Given the description of an element on the screen output the (x, y) to click on. 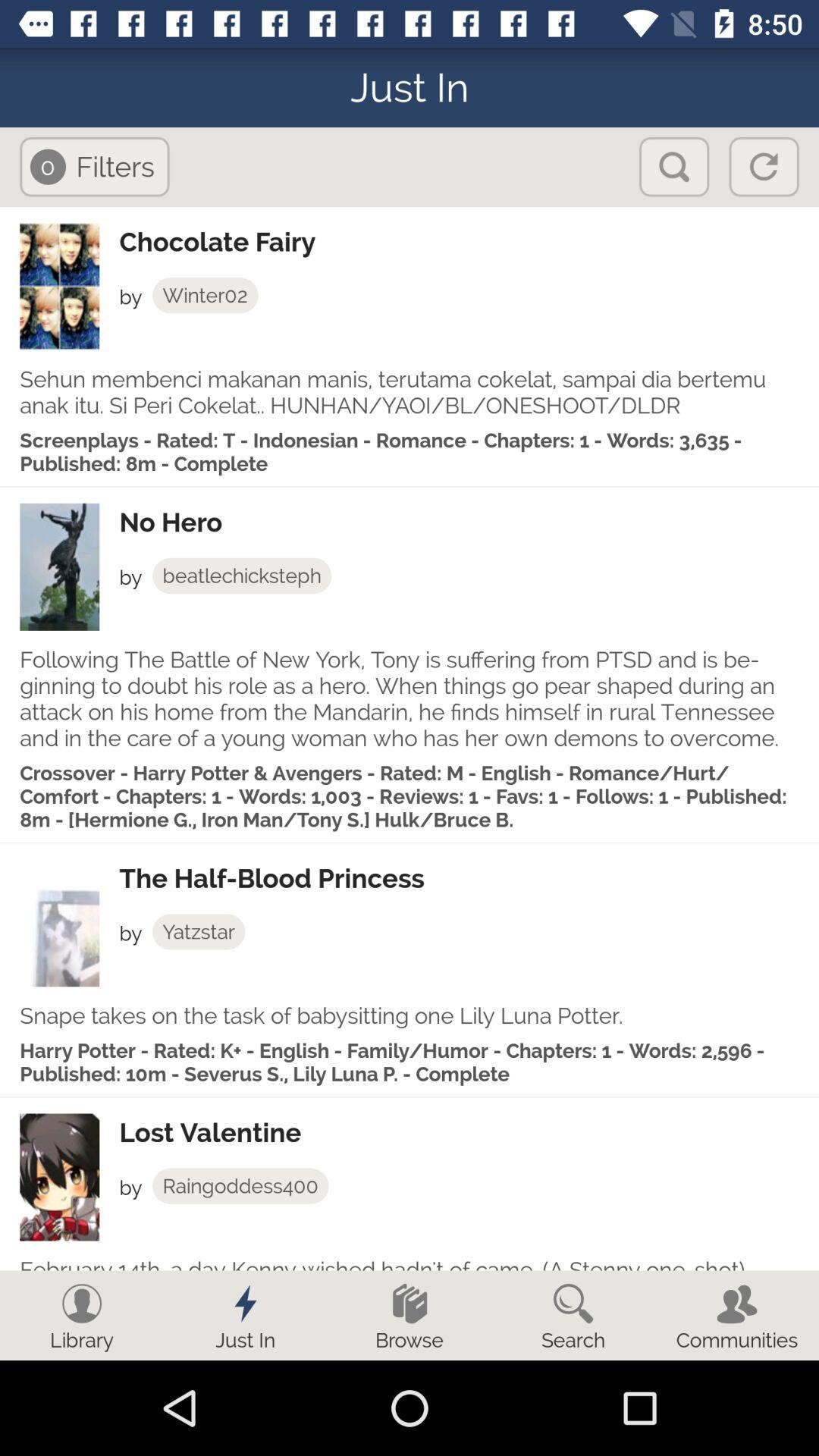
tap the sehun membenci makanan icon (409, 392)
